Given the description of an element on the screen output the (x, y) to click on. 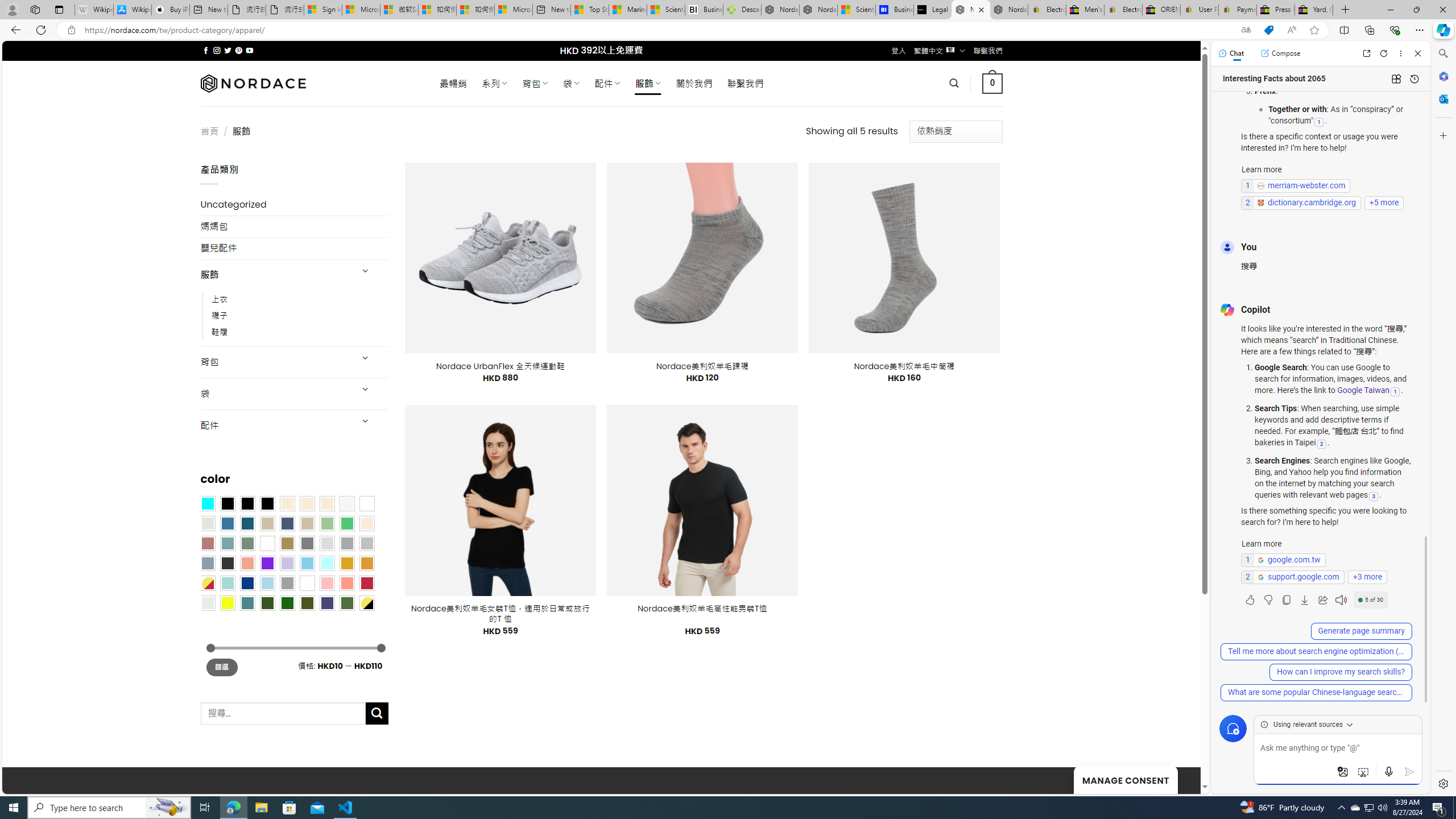
Press Room - eBay Inc. (1276, 9)
Show translate options (1245, 29)
Minimize Search pane (1442, 53)
Follow on Facebook (205, 50)
